Given the description of an element on the screen output the (x, y) to click on. 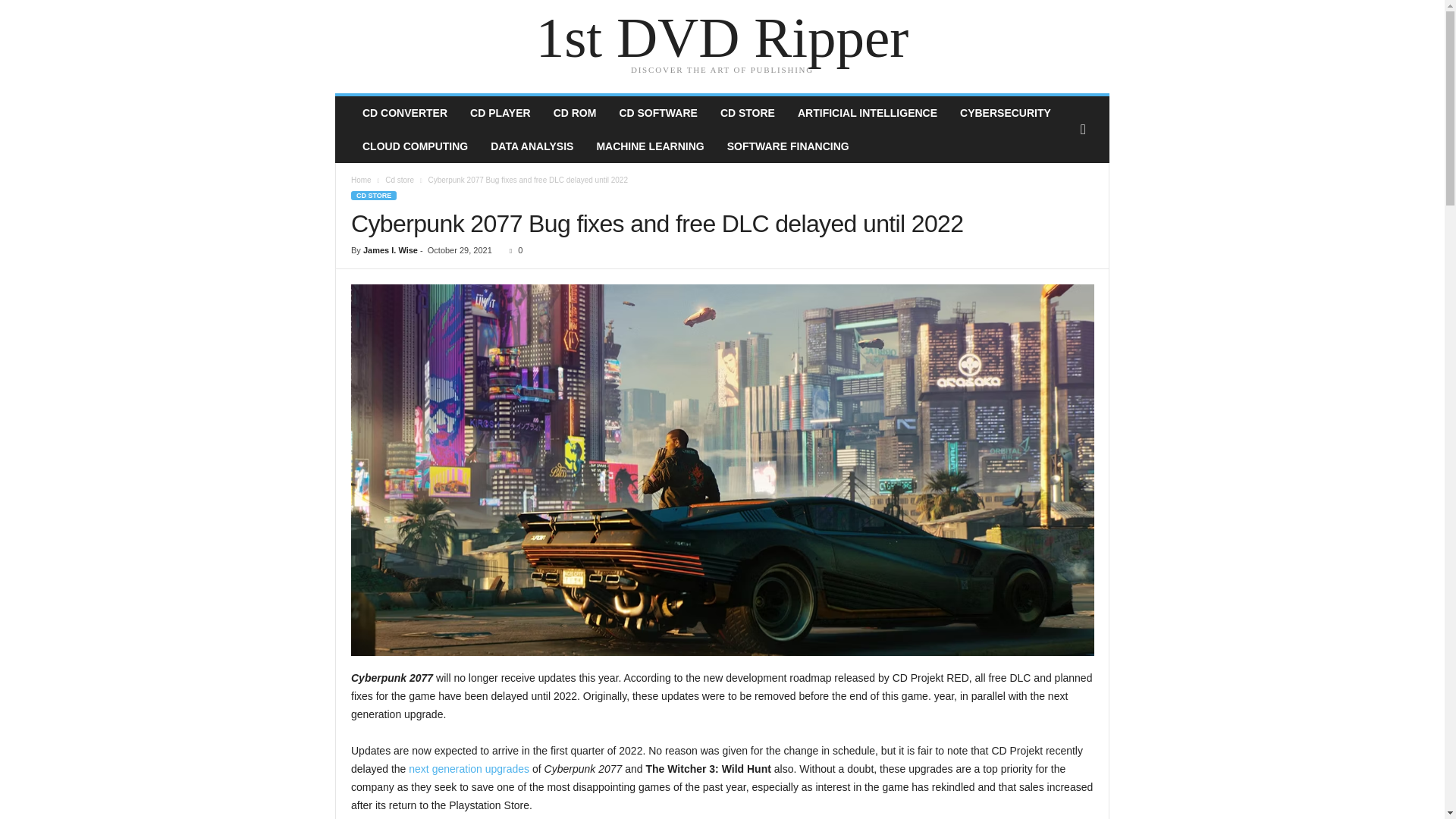
CD STORE Element type: text (747, 112)
next generation upgrades Element type: text (468, 768)
James I. Wise Element type: text (390, 249)
CD ROM Element type: text (575, 112)
CD CONVERTER Element type: text (404, 112)
1st DVD Ripper Element type: text (722, 38)
CD SOFTWARE Element type: text (657, 112)
CD PLAYER Element type: text (500, 112)
MACHINE LEARNING Element type: text (649, 146)
SOFTWARE FINANCING Element type: text (787, 146)
0 Element type: text (512, 249)
CYBERSECURITY Element type: text (1005, 112)
ARTIFICIAL INTELLIGENCE Element type: text (867, 112)
Home Element type: text (361, 179)
DATA ANALYSIS Element type: text (531, 146)
Cd store Element type: text (399, 179)
CD STORE Element type: text (373, 195)
CLOUD COMPUTING Element type: text (415, 146)
